Given the description of an element on the screen output the (x, y) to click on. 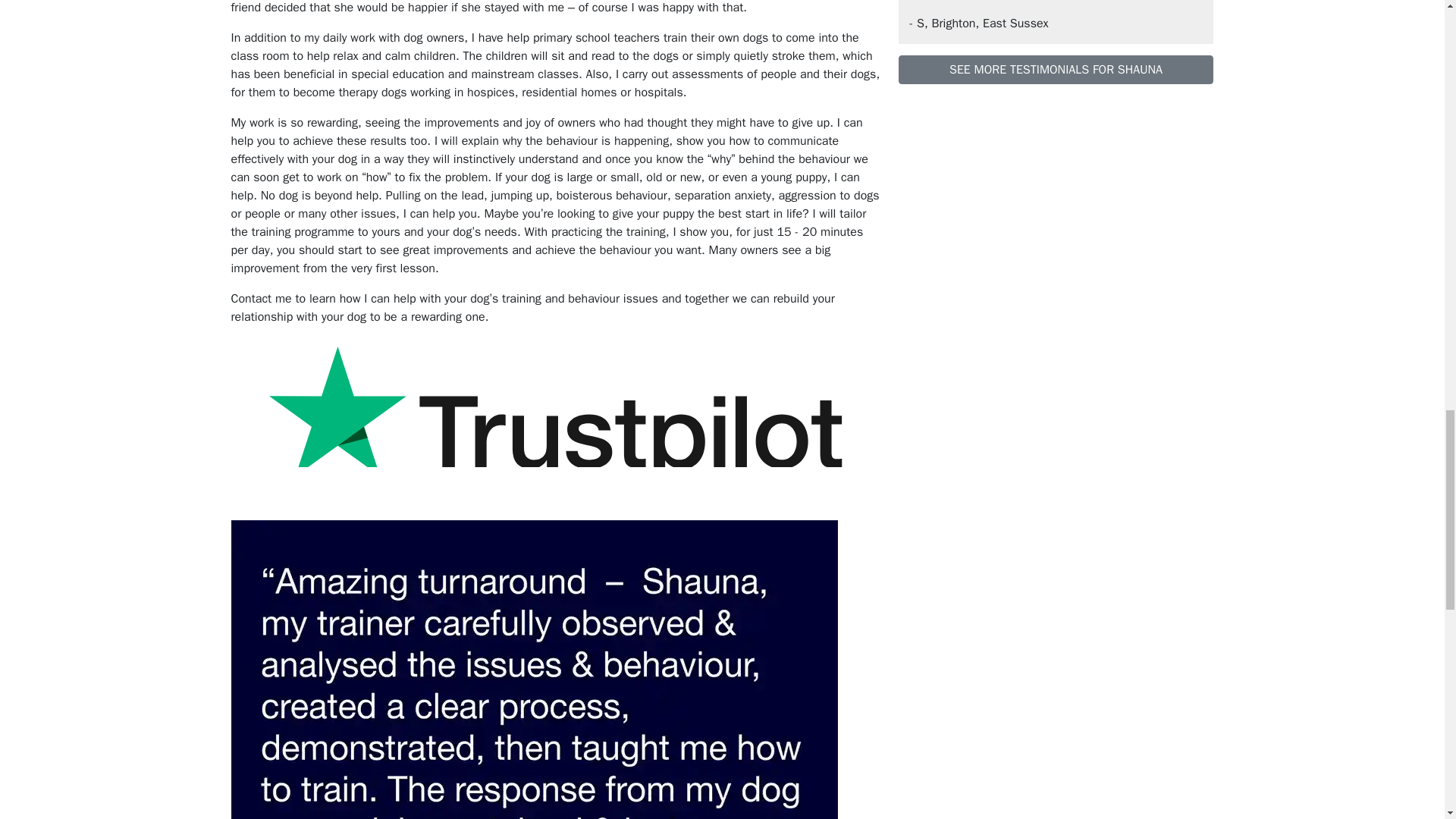
SEE MORE TESTIMONIALS FOR SHAUNA (1055, 69)
